Given the description of an element on the screen output the (x, y) to click on. 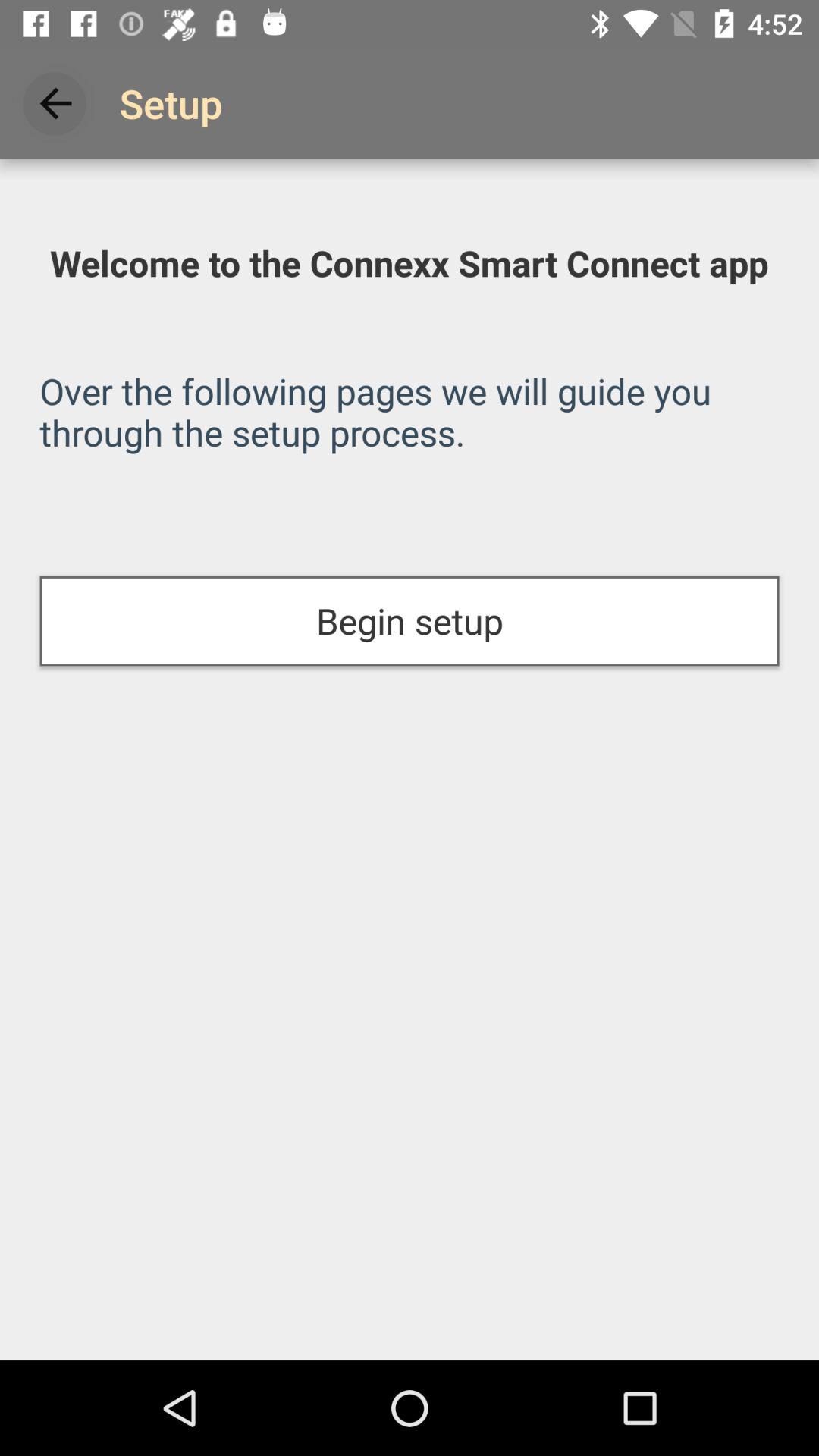
select begin setup icon (409, 621)
